Given the description of an element on the screen output the (x, y) to click on. 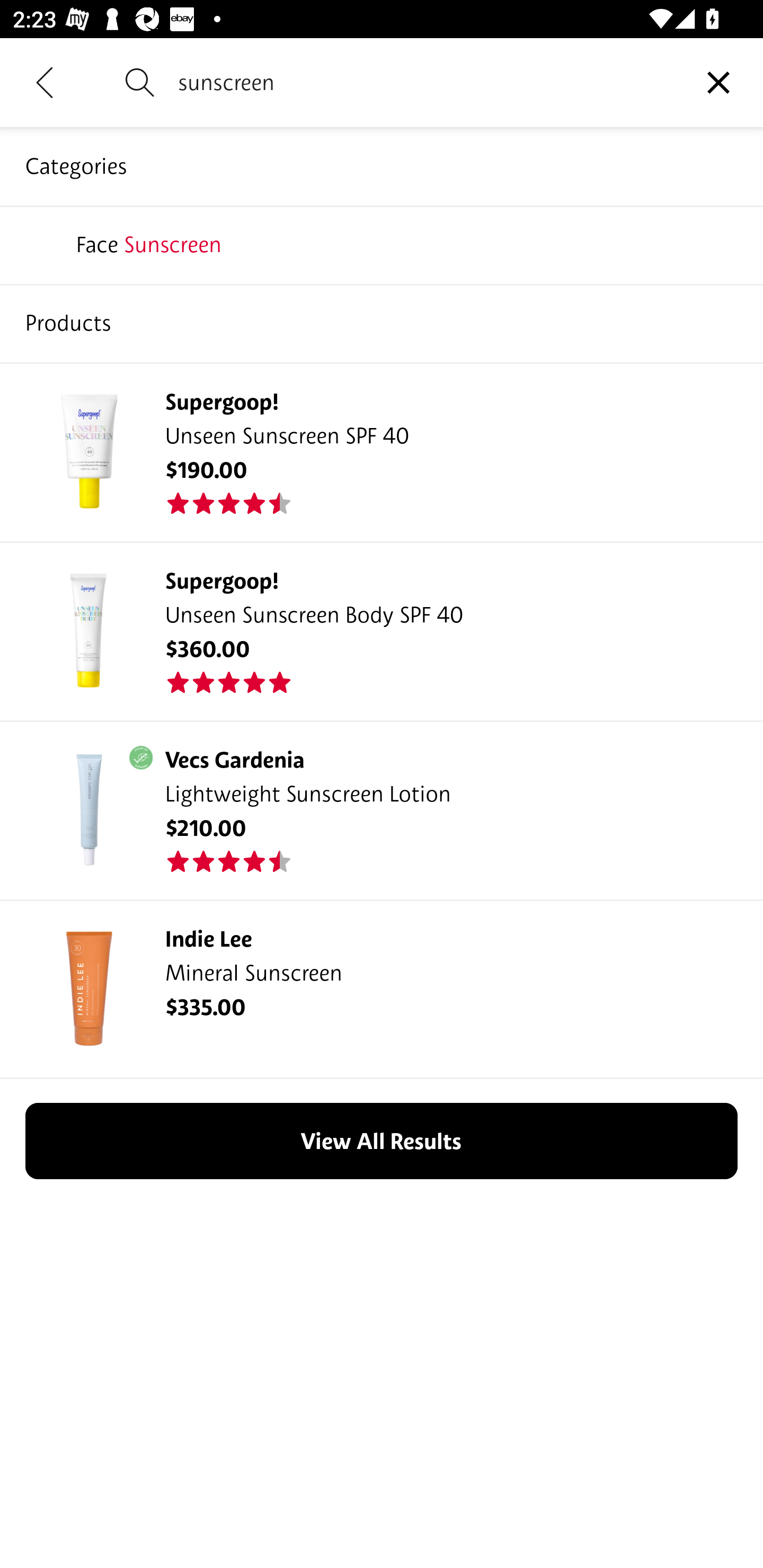
Navigate up (44, 82)
Clear query (718, 81)
sunscreen (425, 82)
sephora collection (381, 244)
the ordinary (381, 322)
Product Image Indie Lee Mineral Sunscreen $335.00 (381, 988)
View All Results (381, 1140)
